Given the description of an element on the screen output the (x, y) to click on. 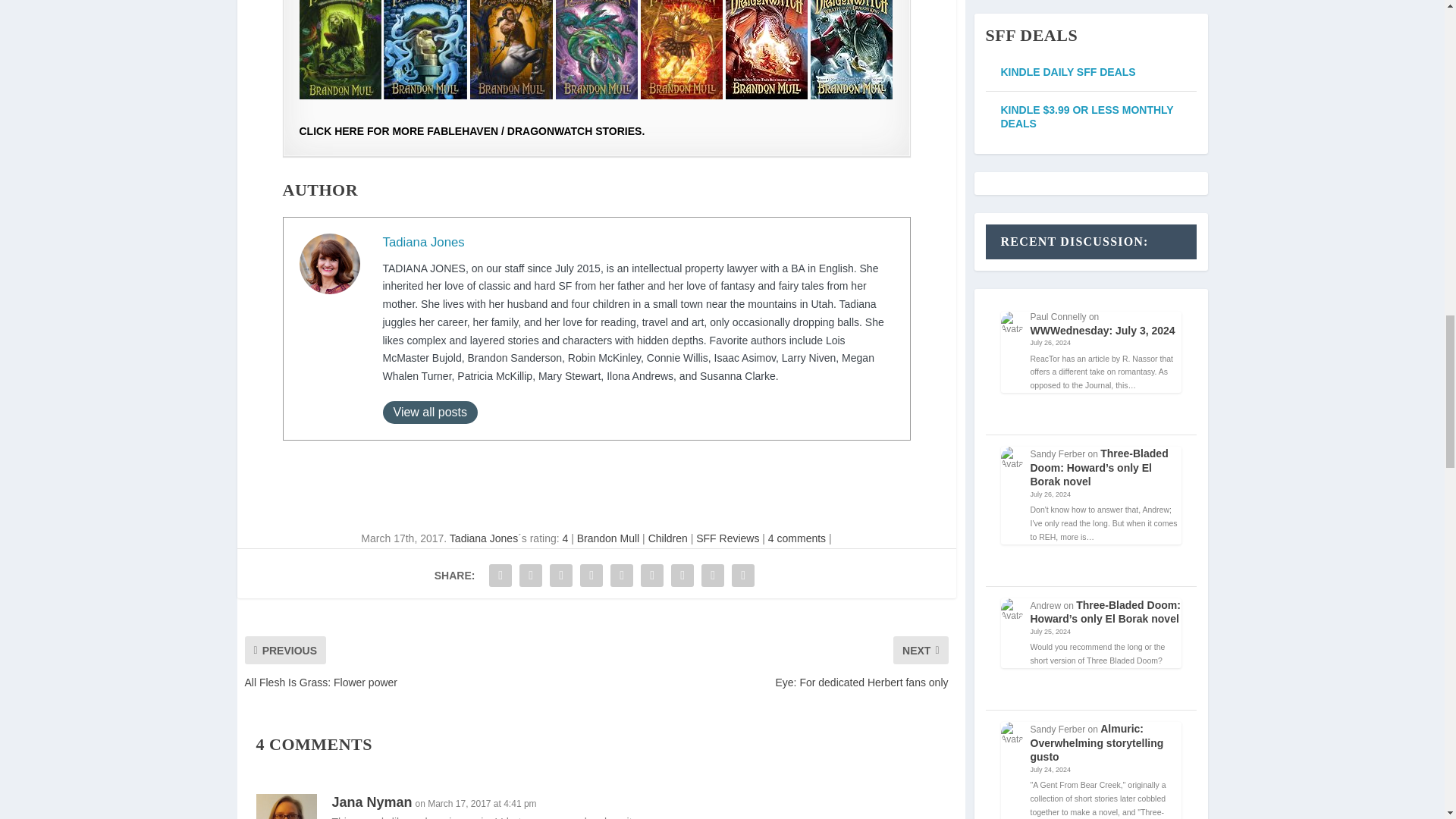
Posts by Tadiana Jones (483, 538)
View all posts (429, 412)
Tadiana Jones (422, 242)
